Given the description of an element on the screen output the (x, y) to click on. 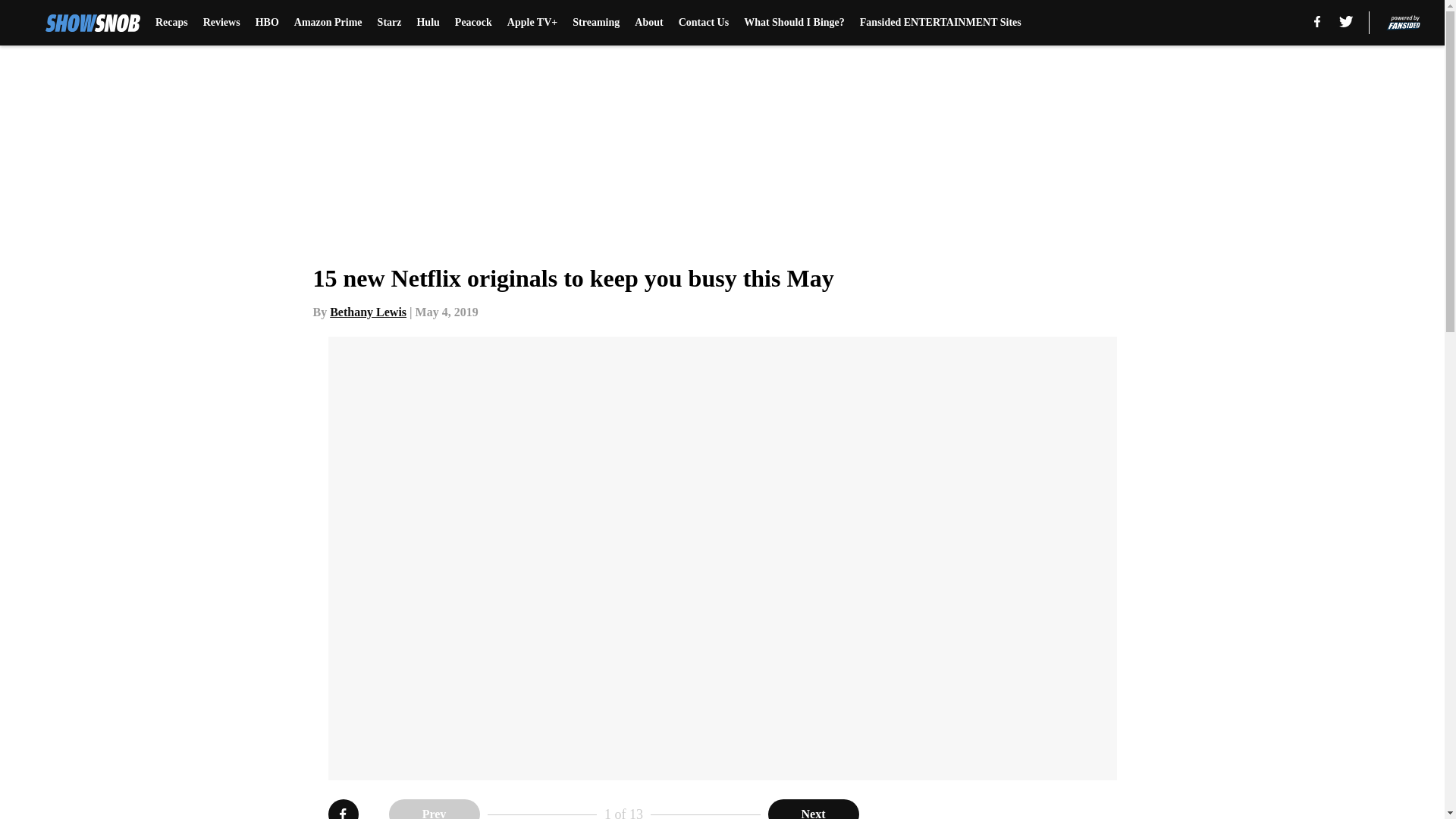
Bethany Lewis (368, 311)
Starz (389, 22)
Fansided ENTERTAINMENT Sites (941, 22)
Next (813, 809)
What Should I Binge? (794, 22)
Recaps (171, 22)
Streaming (596, 22)
Hulu (427, 22)
Contact Us (703, 22)
Reviews (221, 22)
Prev (433, 809)
Peacock (473, 22)
HBO (267, 22)
Amazon Prime (328, 22)
About (648, 22)
